Given the description of an element on the screen output the (x, y) to click on. 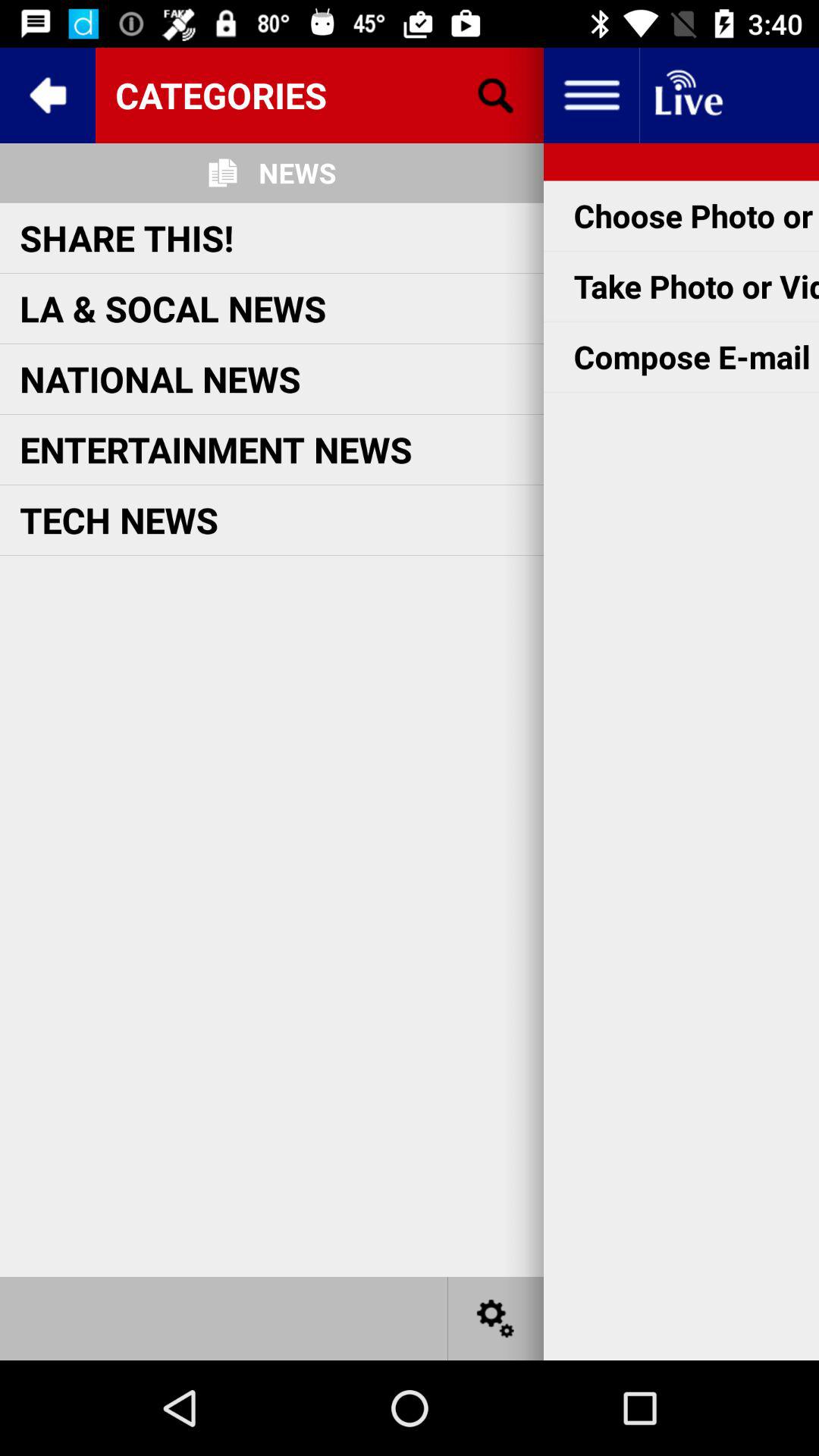
launch the tech news item (118, 519)
